Given the description of an element on the screen output the (x, y) to click on. 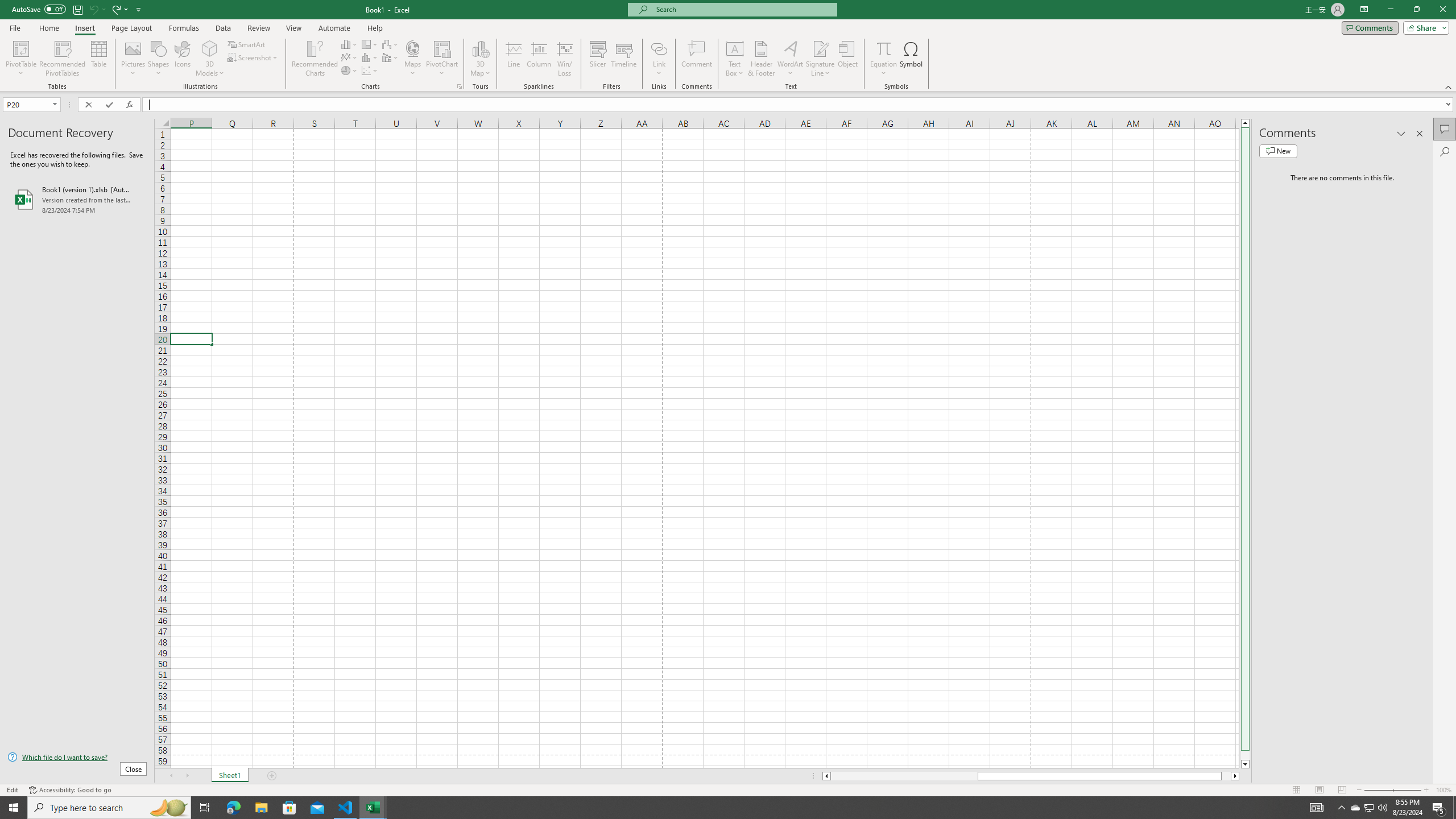
Column (539, 58)
Link (659, 58)
AutoSave (38, 9)
Insert Pie or Doughnut Chart (349, 69)
Comments (1444, 128)
3D Models (210, 58)
Customize Quick Access Toolbar (139, 9)
Insert Waterfall, Funnel, Stock, Surface, or Radar Chart (390, 44)
Home (48, 28)
Zoom Out (1377, 790)
Share (1423, 27)
Open (54, 104)
More Options (883, 68)
Add Sheet (272, 775)
PivotChart (442, 58)
